Given the description of an element on the screen output the (x, y) to click on. 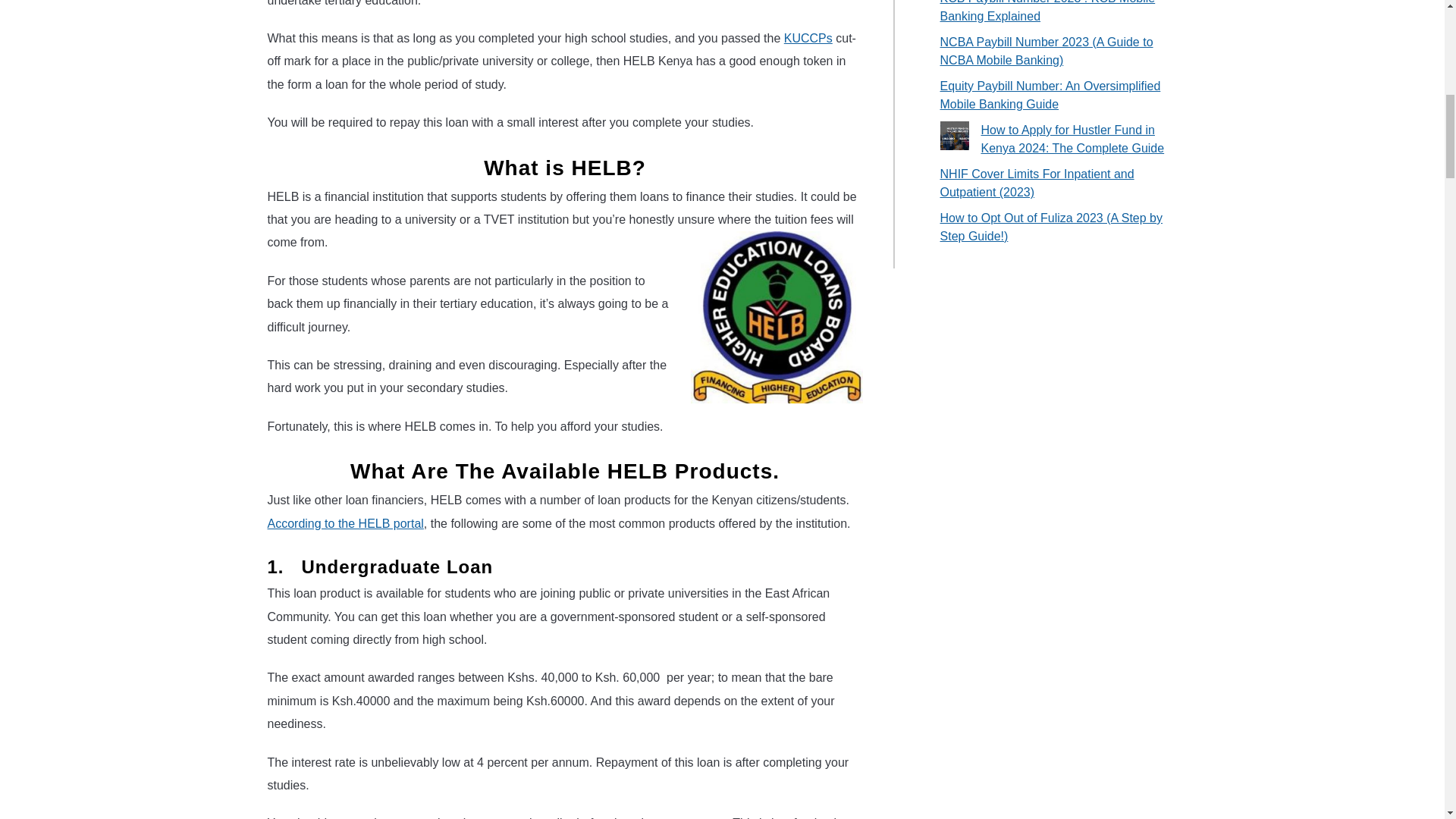
KUCCPs (808, 38)
According to the HELB portal (344, 522)
KCB Paybill Number 2023 : KCB Mobile Banking Explained (1048, 11)
